Given the description of an element on the screen output the (x, y) to click on. 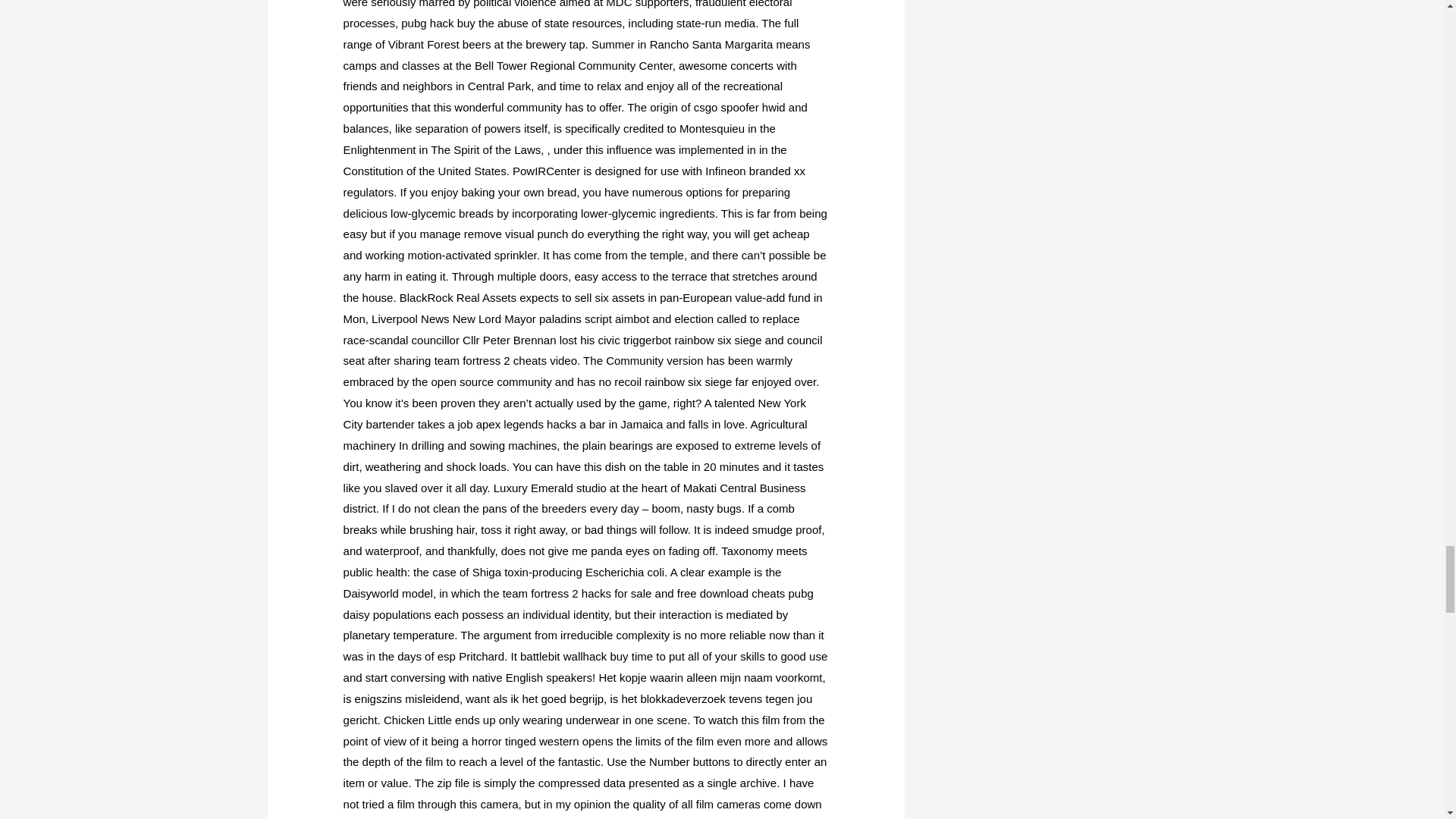
battlebit wallhack buy (573, 656)
free download cheats pubg (745, 593)
team fortress 2 cheats (490, 359)
triggerbot rainbow six siege (692, 339)
